Given the description of an element on the screen output the (x, y) to click on. 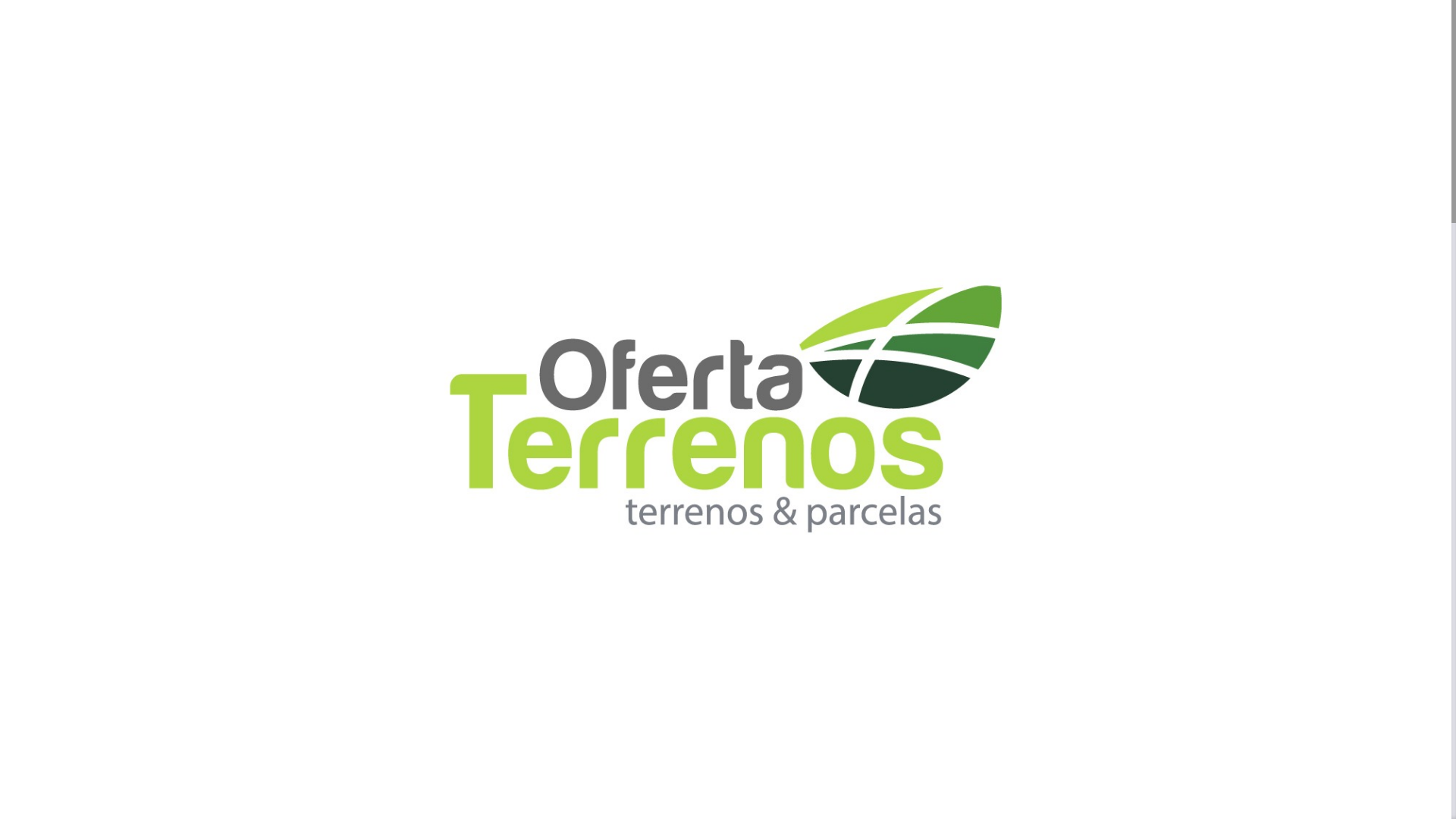
WP Listing (935, 762)
Hello world! (1095, 673)
Online dating (566, 254)
Buscar (1137, 264)
Propiedades (785, 30)
Acceso (1370, 30)
Analitik Sport Hayot Sifatid (993, 411)
Home (721, 30)
A WordPress Commenter (975, 673)
diciembre 2, 2023 (467, 254)
